Given the description of an element on the screen output the (x, y) to click on. 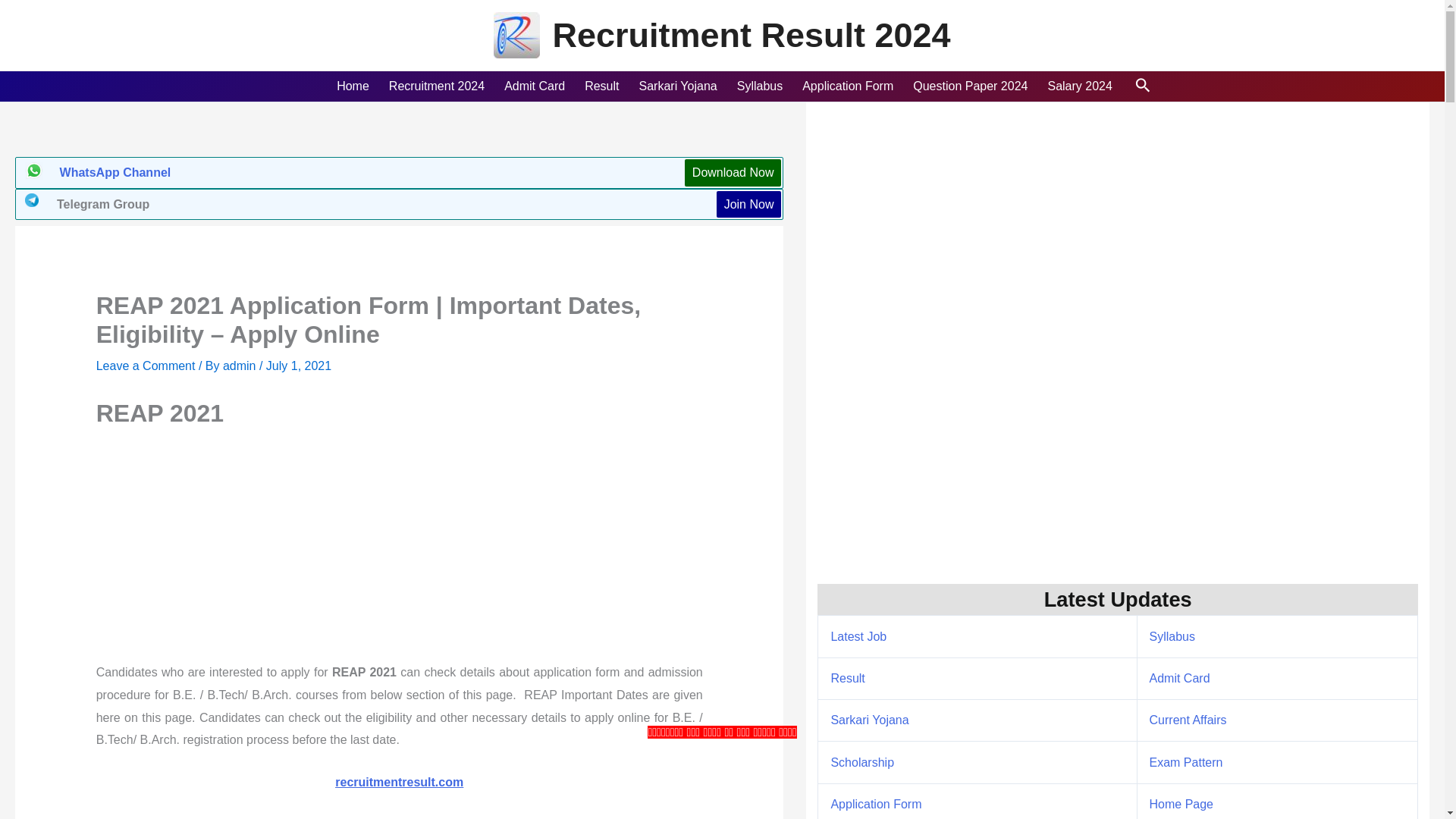
Result (599, 86)
Application Form (845, 86)
Download Now (732, 172)
Sarkari Yojana (676, 86)
Leave a Comment (145, 365)
admin (240, 365)
Admit Card (532, 86)
Syllabus (757, 86)
View all posts by admin (240, 365)
recruitmentresult.com (398, 781)
